Given the description of an element on the screen output the (x, y) to click on. 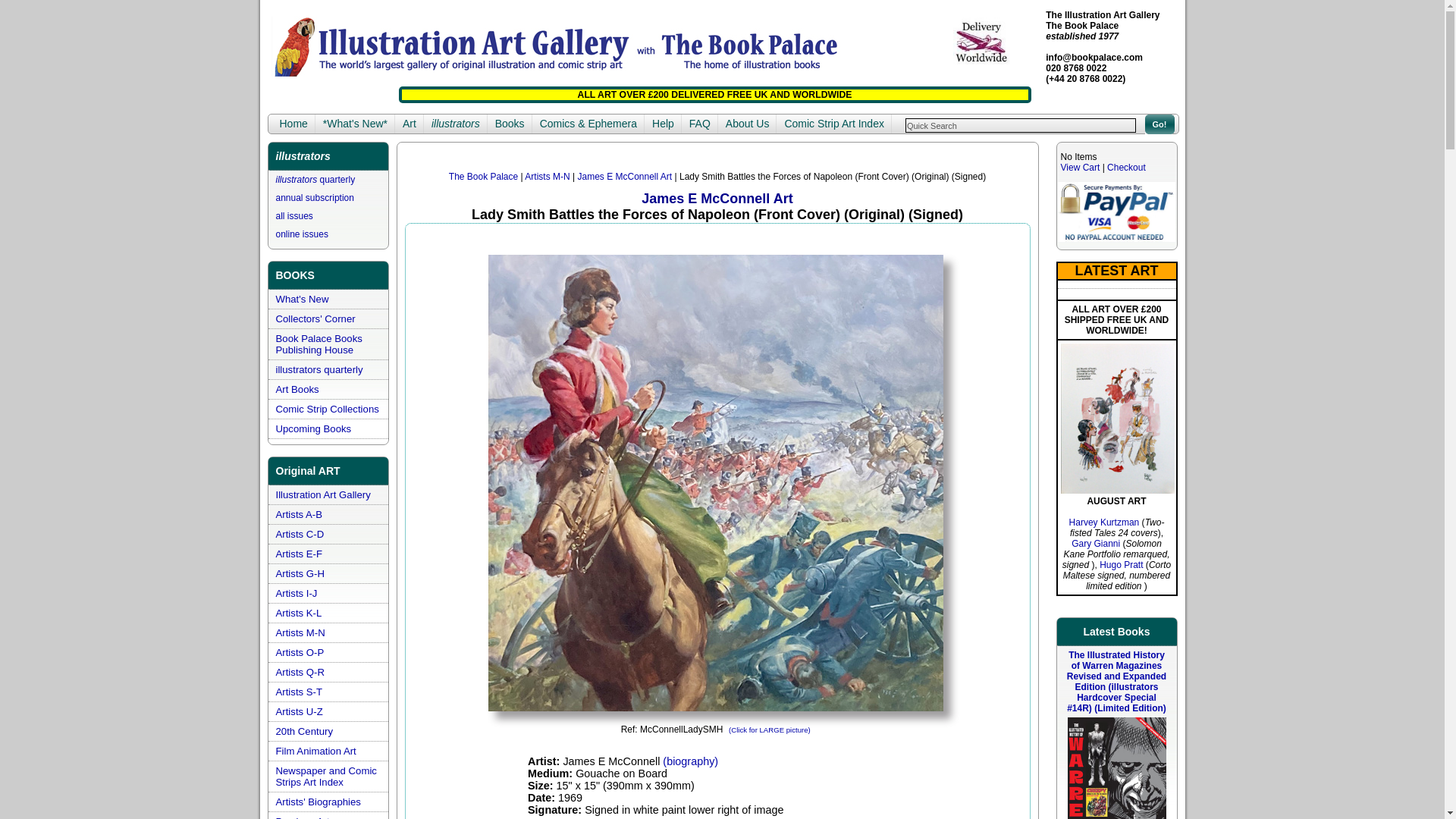
Upcoming Books (314, 428)
Book Palace Books Publishing House (319, 343)
illustrators quarterly (315, 179)
all issues (294, 215)
Art Books (297, 389)
Illustration Art Gallery (323, 494)
illustrators quarterly (315, 179)
online issues (302, 234)
Artists U-Z (299, 711)
illustrators quarterly (319, 369)
